Given the description of an element on the screen output the (x, y) to click on. 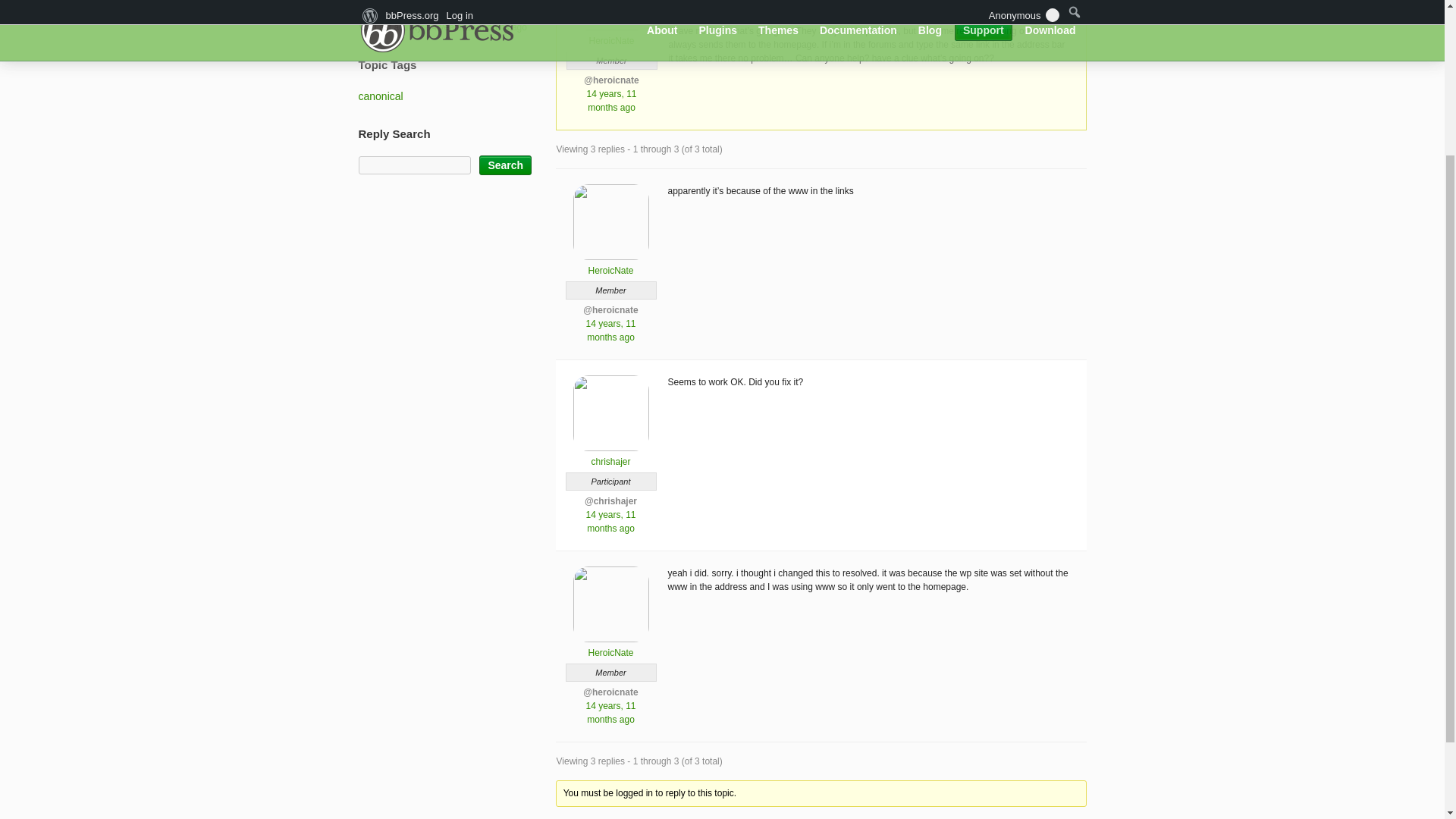
14 years, 11 months ago (611, 100)
14 years, 11 months ago (609, 521)
HeroicNate (461, 7)
14 years, 11 months ago (476, 27)
Search (505, 165)
HeroicNate (609, 646)
HeroicNate (611, 34)
HeroicNate (609, 264)
14 years, 11 months ago (609, 330)
canonical (380, 96)
14 years, 11 months ago (609, 712)
chrishajer (609, 455)
Search (505, 165)
